Given the description of an element on the screen output the (x, y) to click on. 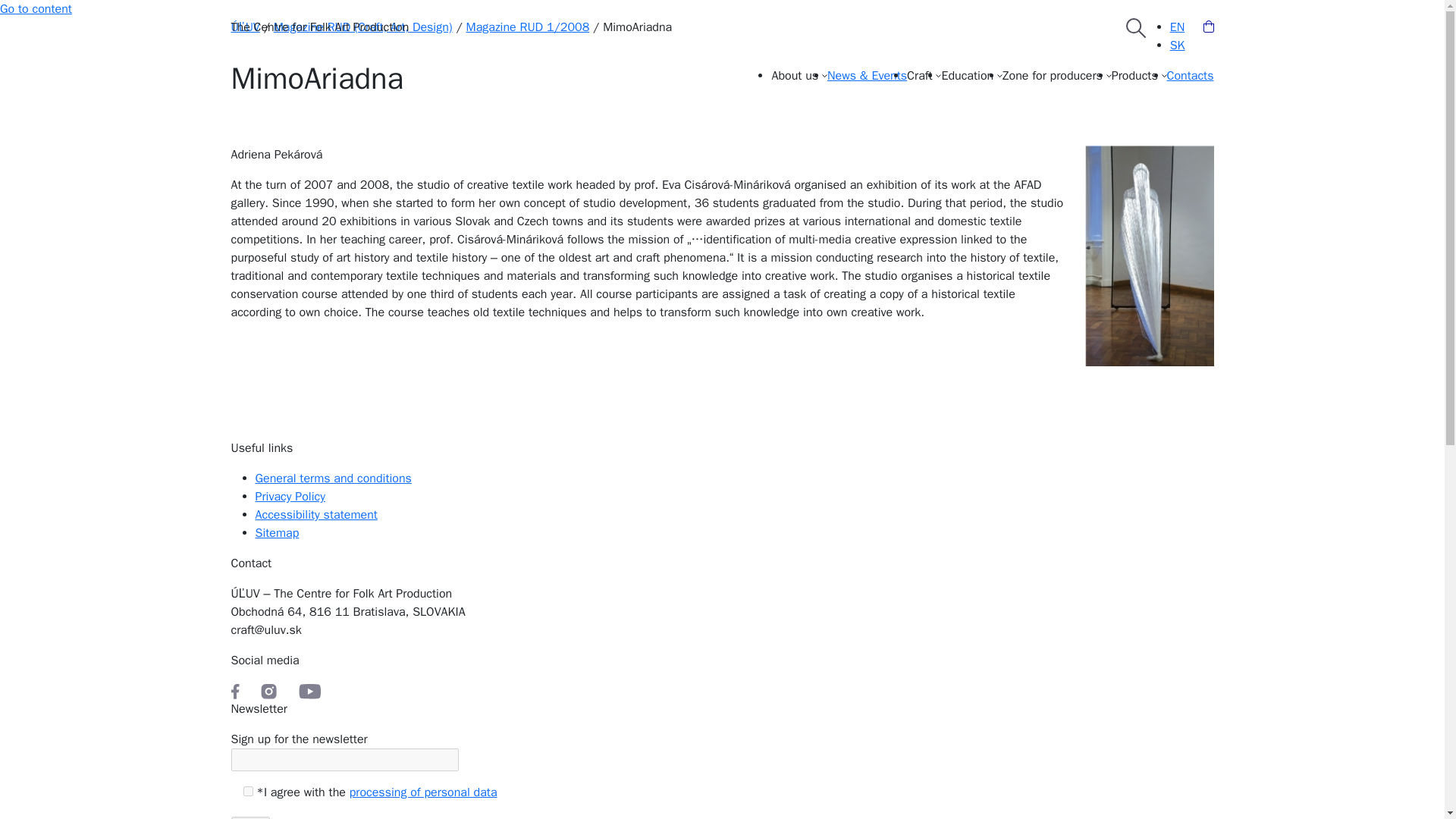
Send (249, 817)
EN (1177, 27)
1 (247, 791)
Go to content (35, 8)
SK (1177, 45)
